Given the description of an element on the screen output the (x, y) to click on. 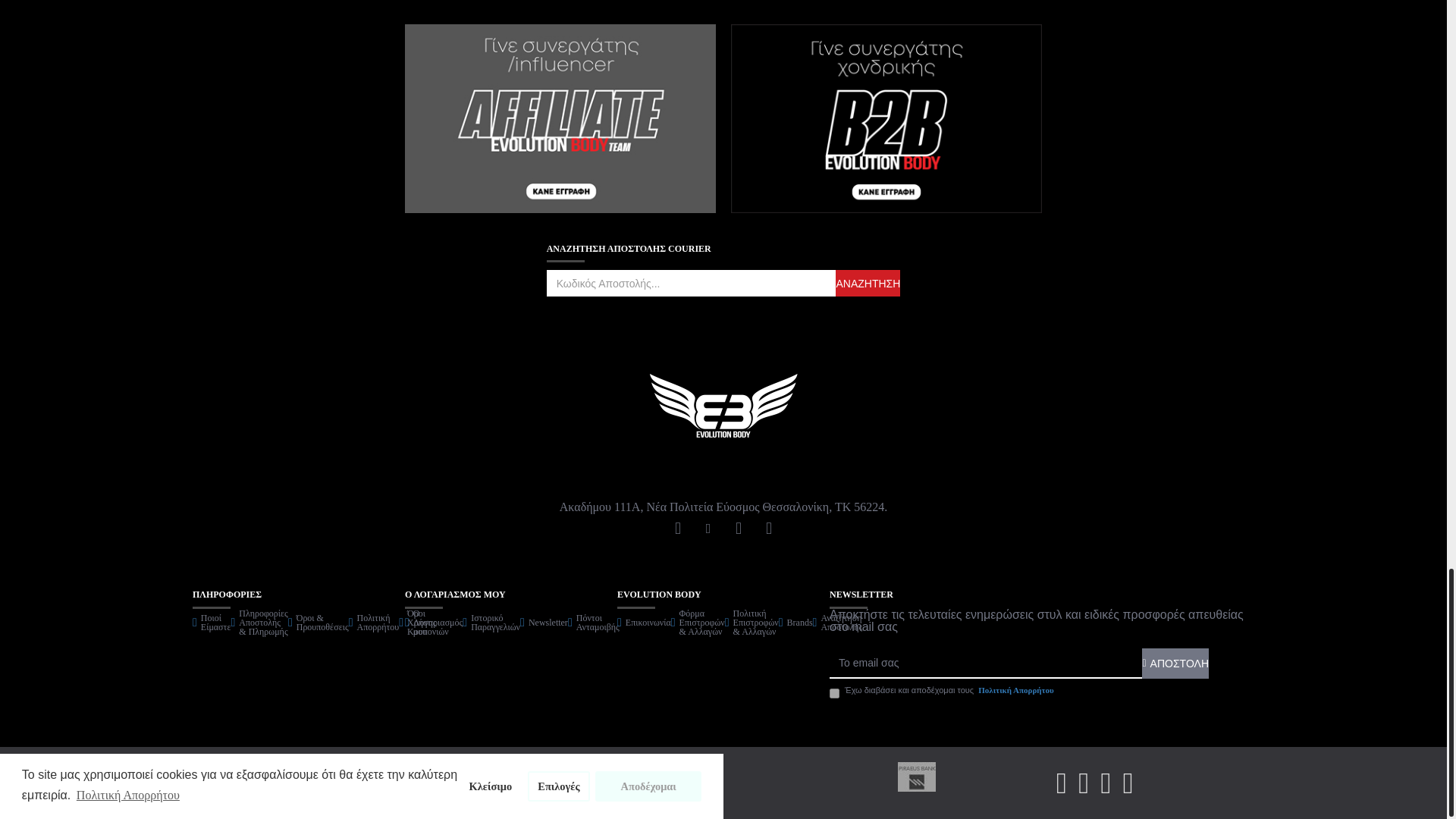
1 (834, 693)
